Given the description of an element on the screen output the (x, y) to click on. 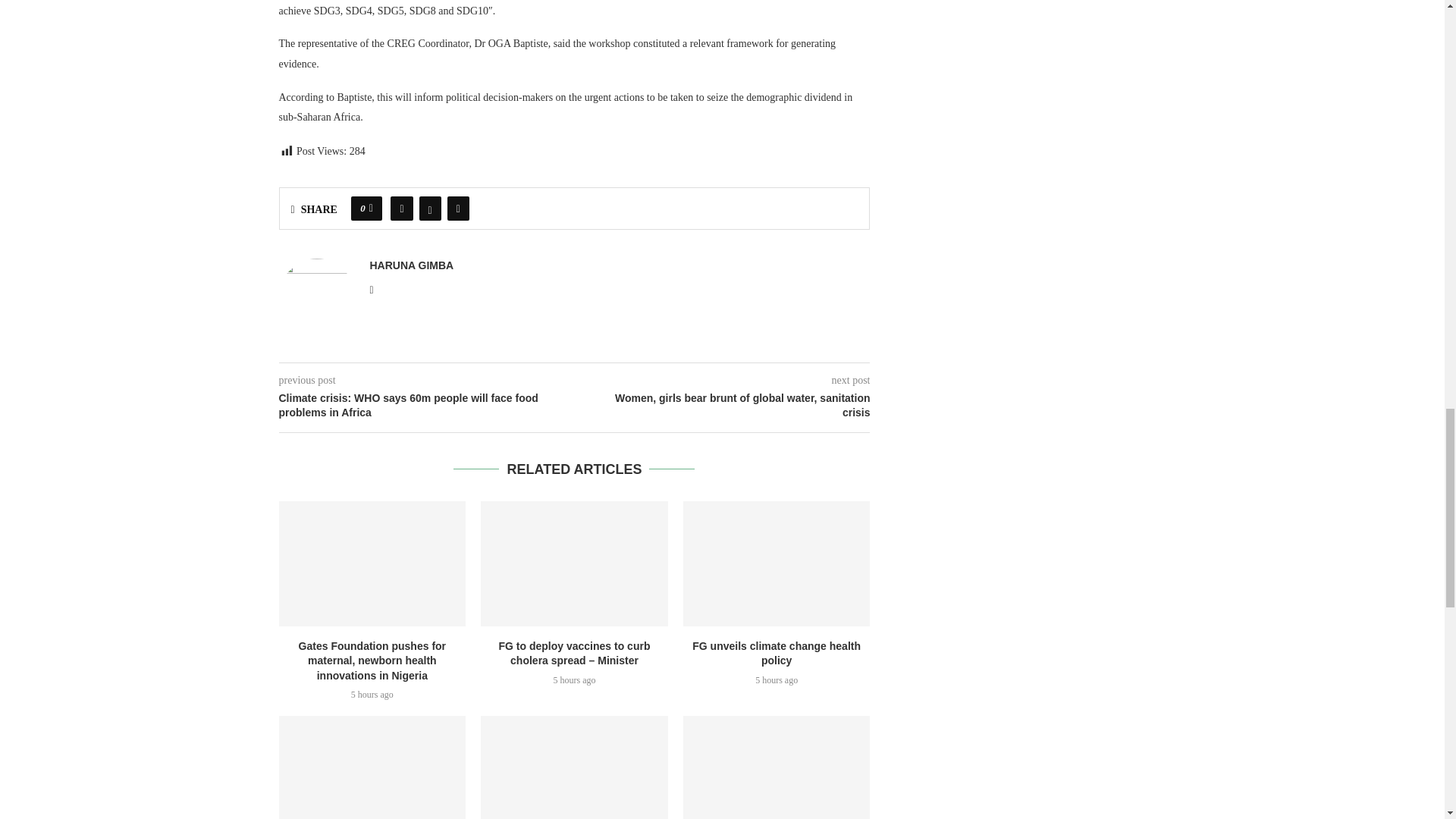
FG unveils climate change health policy (776, 563)
Author Haruna Gimba (411, 265)
Like (370, 208)
